Given the description of an element on the screen output the (x, y) to click on. 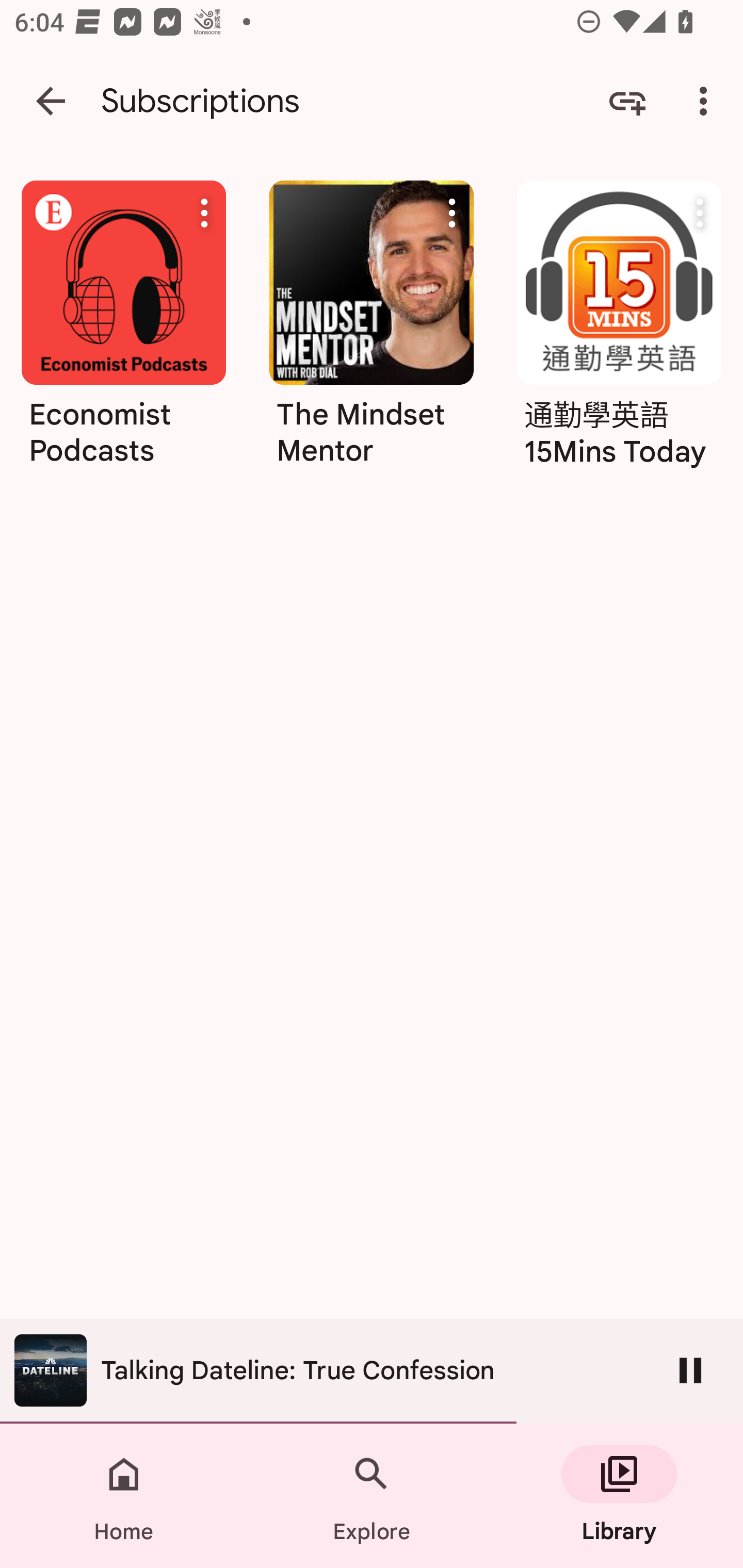
Navigate up (50, 101)
Add by RSS feed (626, 101)
More options (706, 101)
Economist Podcasts More actions Economist Podcasts (123, 383)
The Mindset Mentor More actions The Mindset Mentor (371, 330)
通勤學英語 15Mins Today More actions 通勤學英語 15Mins Today (619, 330)
More actions (203, 213)
More actions (452, 213)
More actions (699, 213)
Pause (690, 1370)
Home (123, 1495)
Explore (371, 1495)
